Given the description of an element on the screen output the (x, y) to click on. 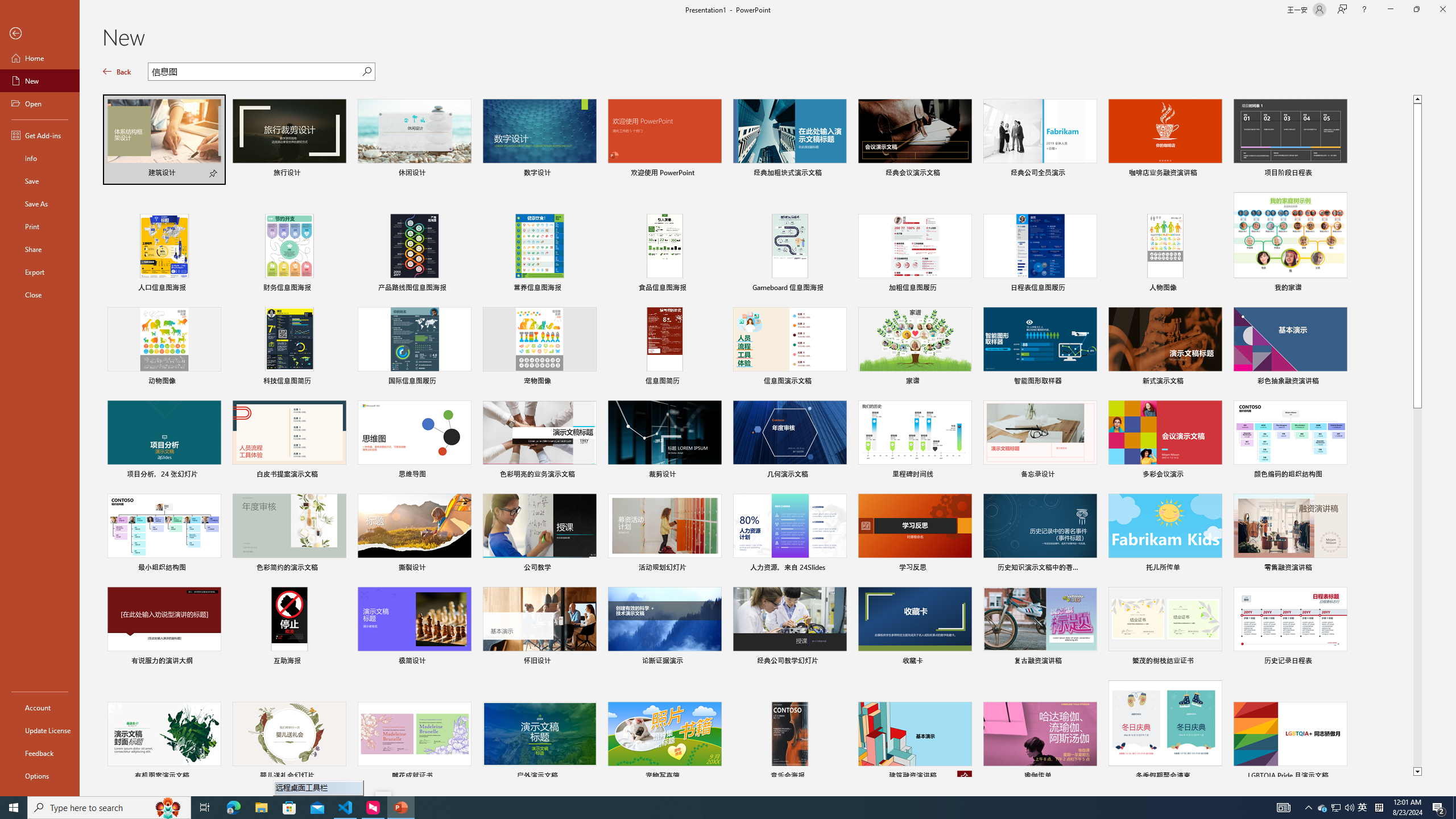
Export (40, 271)
Info (40, 157)
